Given the description of an element on the screen output the (x, y) to click on. 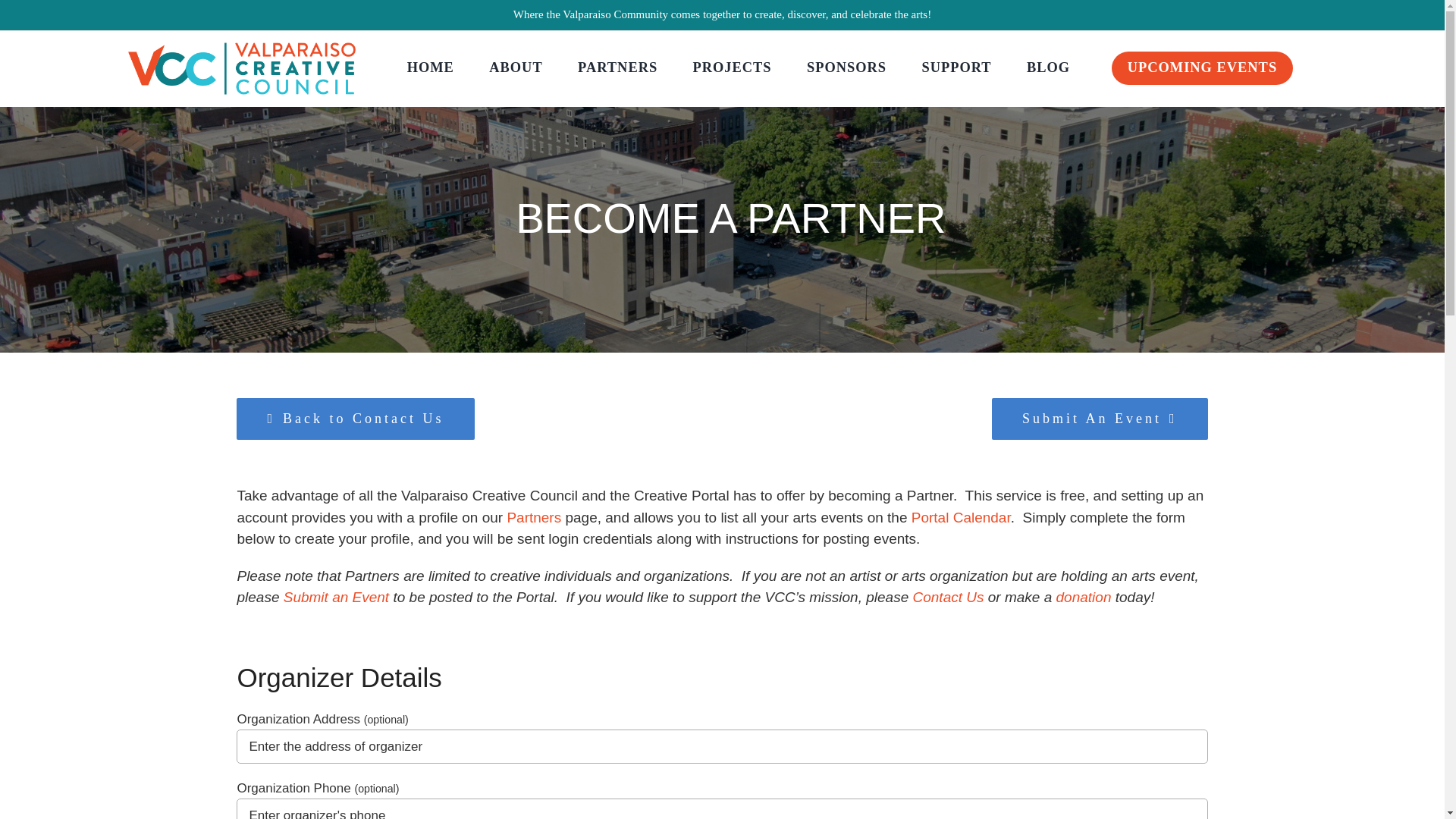
BLOG (1048, 67)
UPCOMING EVENTS (1202, 68)
SUPPORT (956, 67)
PARTNERS (617, 67)
donation (1084, 596)
SPONSORS (846, 67)
ABOUT (515, 67)
Partners (533, 517)
Contact Us (948, 596)
Portal Calendar (960, 517)
Submit an Event (335, 596)
HOME (429, 67)
Submit An Event (1099, 418)
PROJECTS (732, 67)
